Given the description of an element on the screen output the (x, y) to click on. 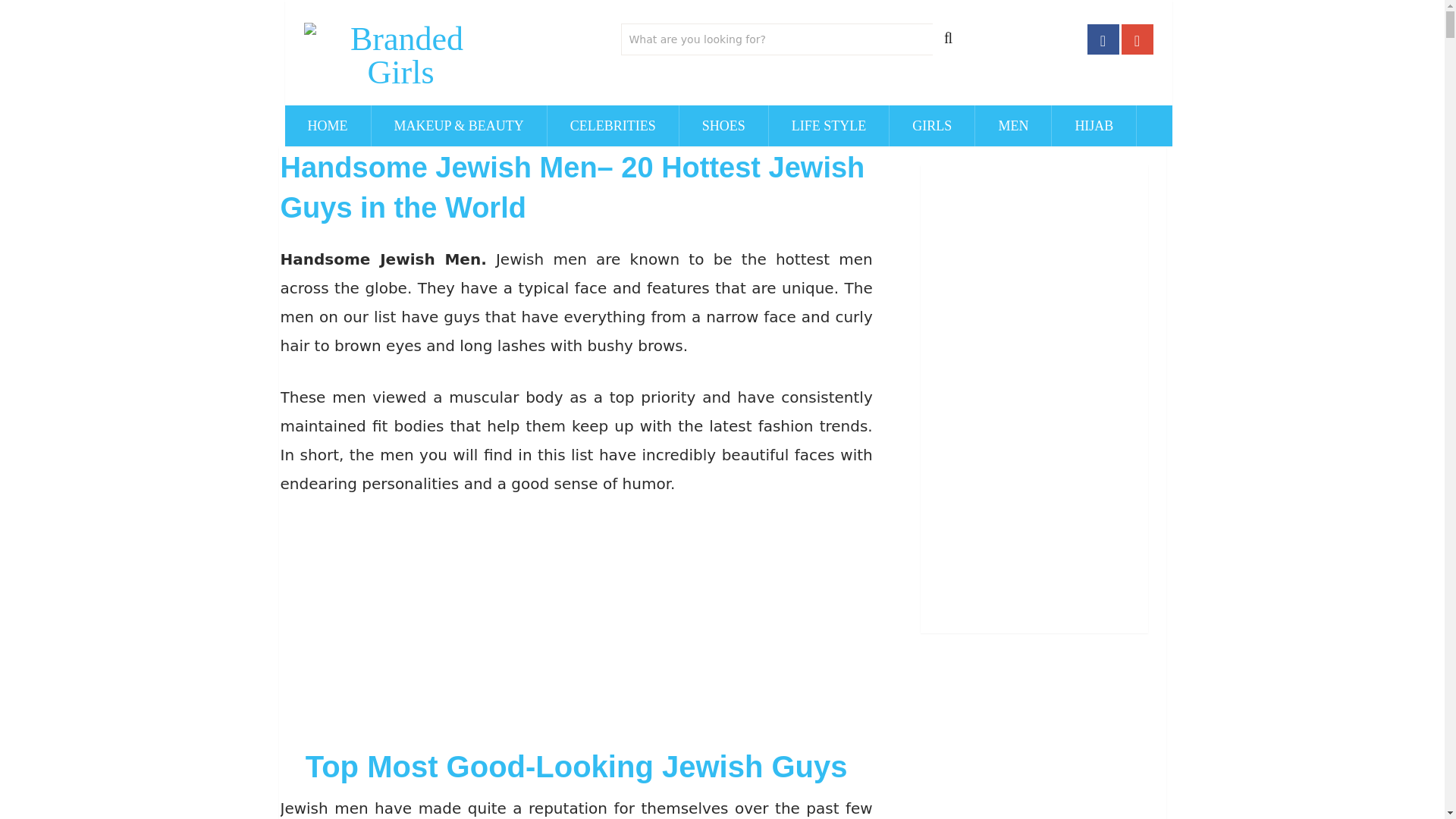
HOME (328, 125)
CELEBRITIES (612, 125)
MEN (1013, 125)
Advertisement (576, 626)
HIJAB (1093, 125)
SHOES (723, 125)
LIFE STYLE (828, 125)
GIRLS (931, 125)
